Given the description of an element on the screen output the (x, y) to click on. 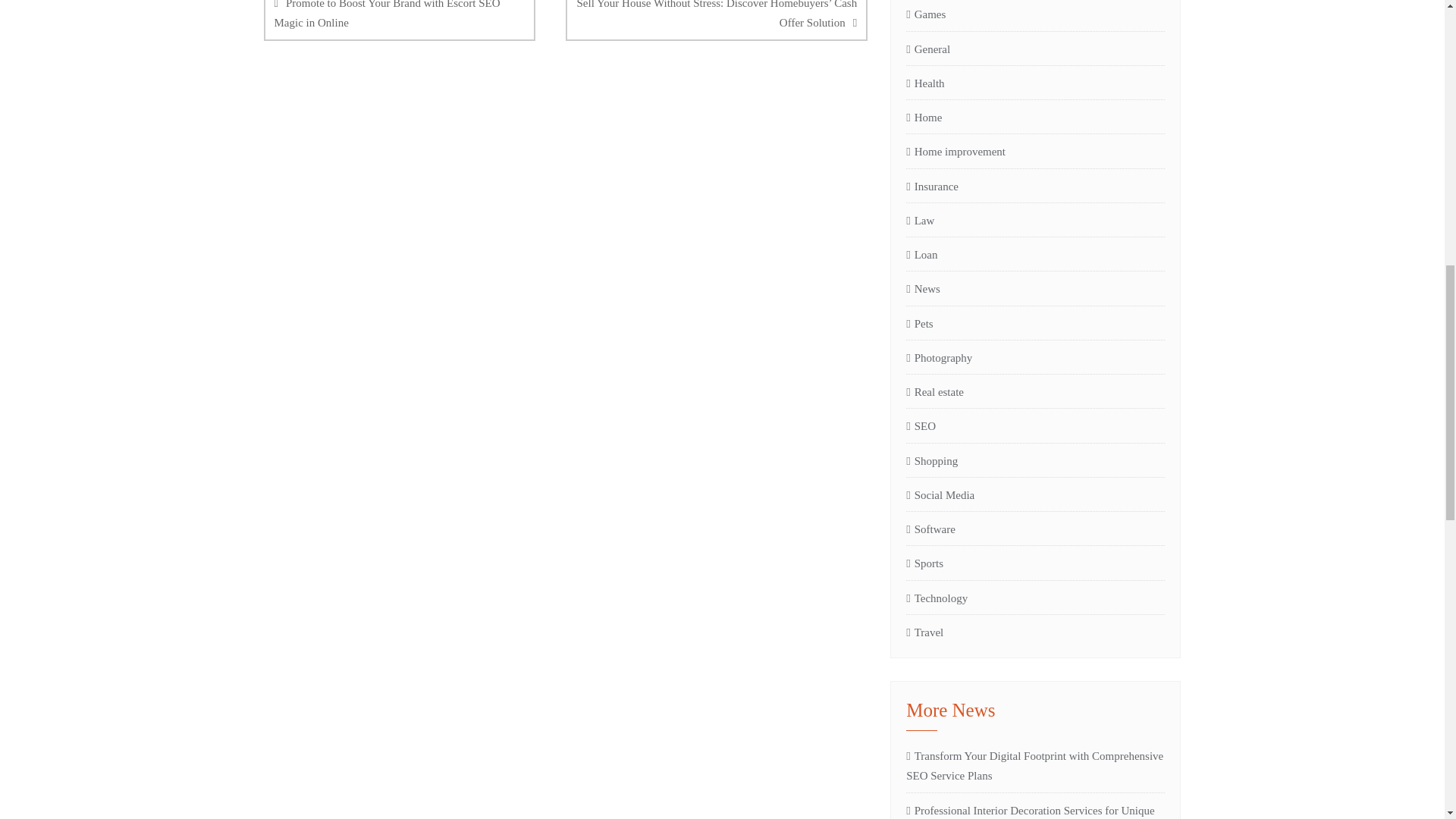
Promote to Boost Your Brand with Escort SEO Magic in Online (399, 20)
News (922, 288)
General (927, 48)
Home (923, 117)
Software (930, 528)
Insurance (931, 186)
Sports (924, 563)
Photography (938, 357)
Pets (919, 323)
Loan (921, 254)
